Given the description of an element on the screen output the (x, y) to click on. 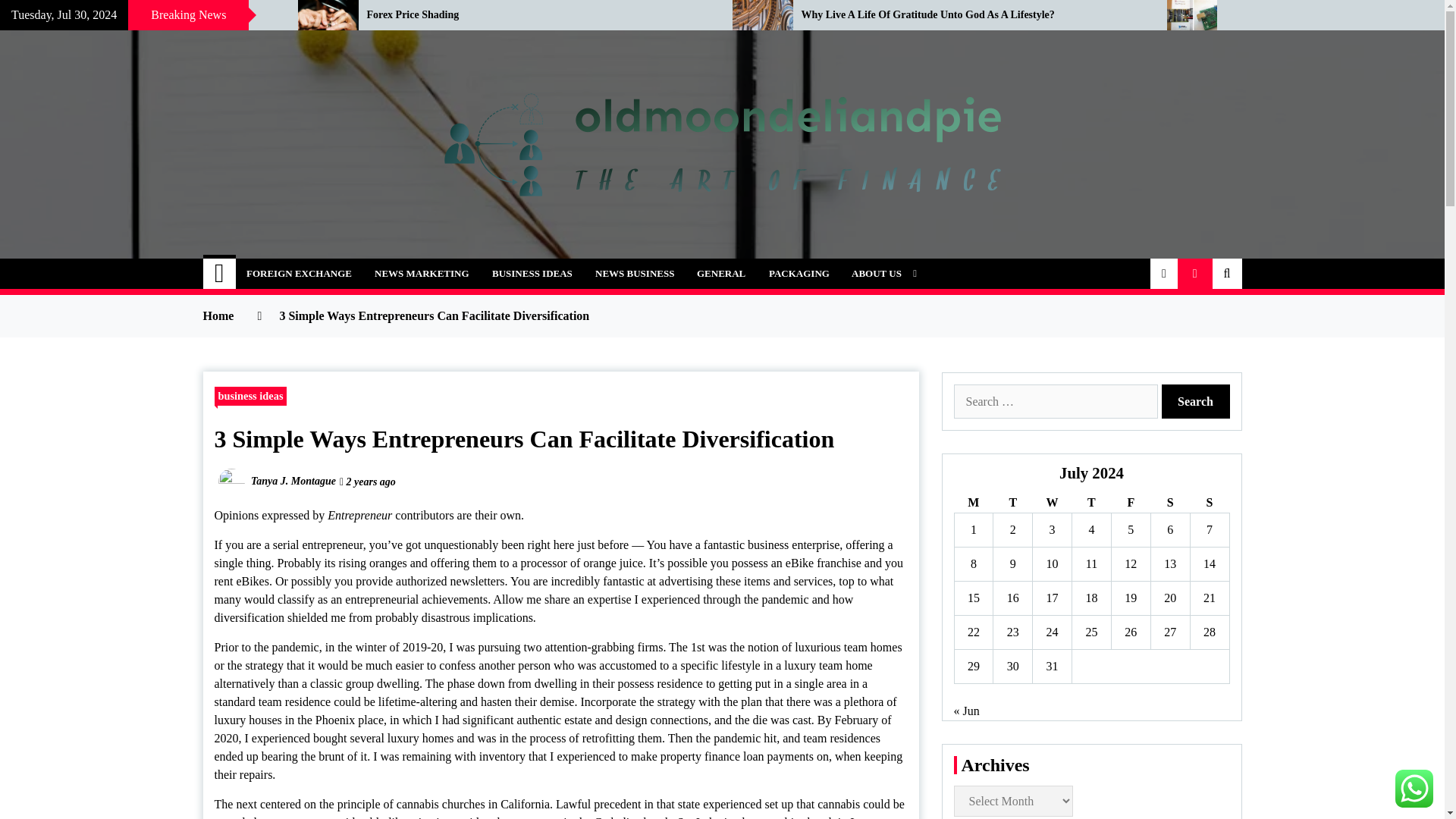
Thursday (1091, 503)
Why Live A Life Of Gratitude Unto God As A Lifestyle? (972, 15)
Search (1195, 401)
Why Has Dining Out Become Part Of Our Lifestyle And Culture? (137, 15)
Monday (972, 503)
Search (1195, 401)
Home (219, 273)
Sunday (1208, 503)
Forex Price Shading (538, 15)
Wednesday (1051, 503)
Friday (1130, 503)
Tuesday (1012, 503)
Saturday (1169, 503)
